Given the description of an element on the screen output the (x, y) to click on. 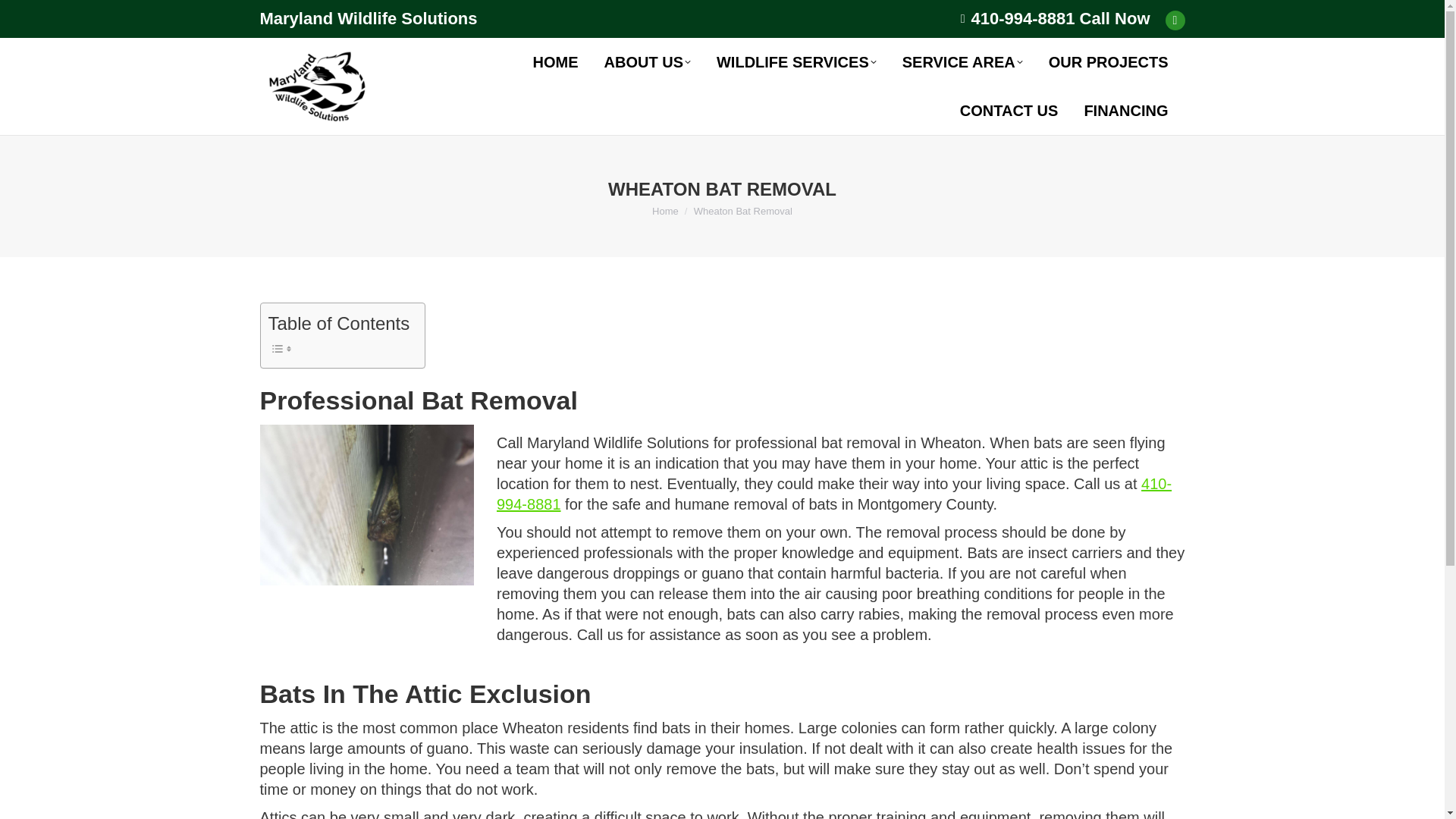
Facebook page opens in new window (1175, 20)
410-994-8881 Call Now (1060, 18)
CONTACT US (1008, 110)
WILDLIFE SERVICES (796, 61)
Home (665, 211)
FINANCING (1125, 110)
SERVICE AREA (962, 61)
bat control (366, 505)
ABOUT US (647, 61)
HOME (556, 61)
OUR PROJECTS (1108, 61)
Facebook page opens in new window (1175, 20)
